Given the description of an element on the screen output the (x, y) to click on. 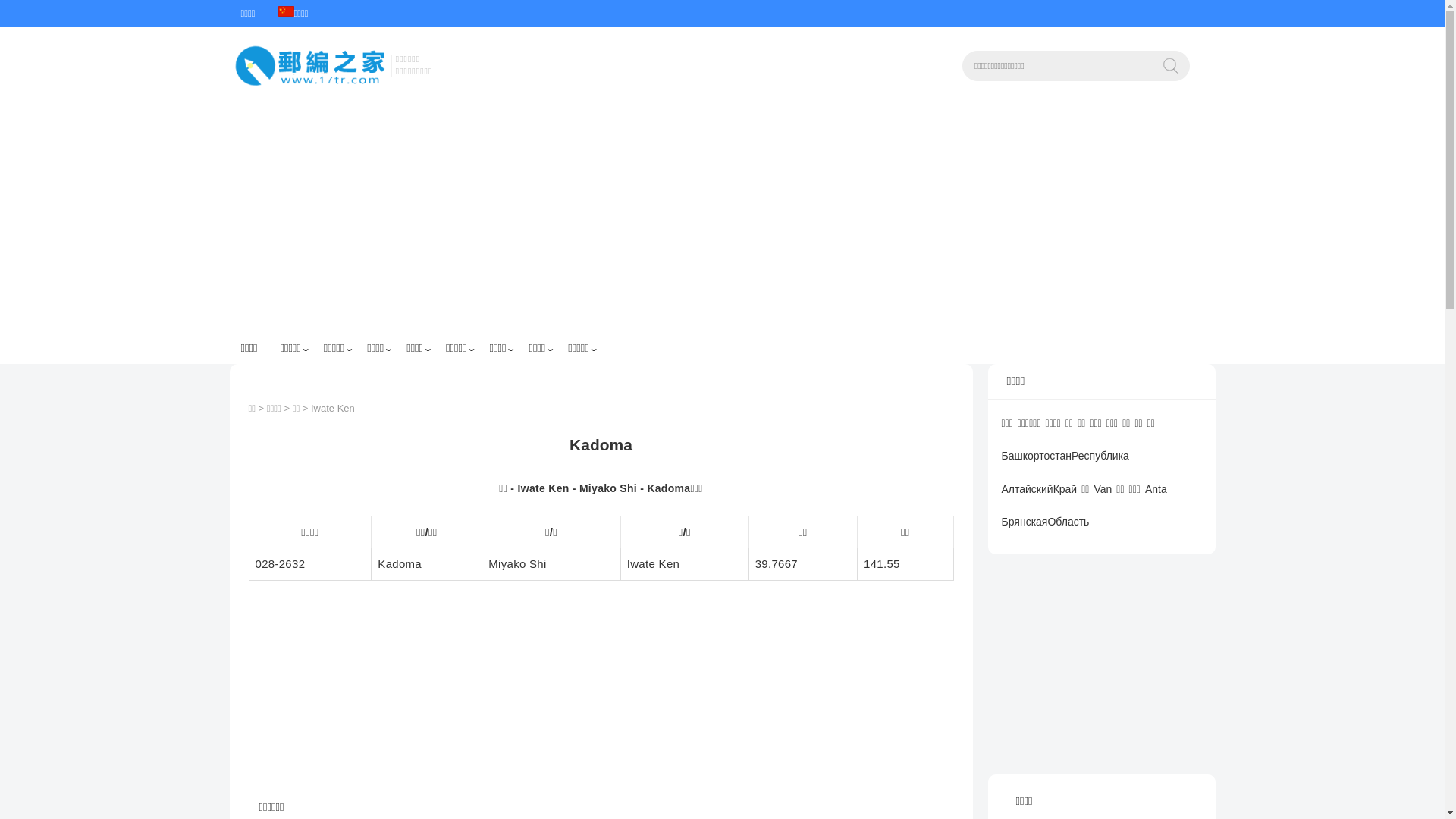
Van Element type: text (1102, 498)
Iwate Ken Element type: text (332, 408)
Anta Element type: text (1155, 498)
Advertisement Element type: hover (1100, 663)
Advertisement Element type: hover (721, 216)
Advertisement Element type: hover (600, 702)
